Given the description of an element on the screen output the (x, y) to click on. 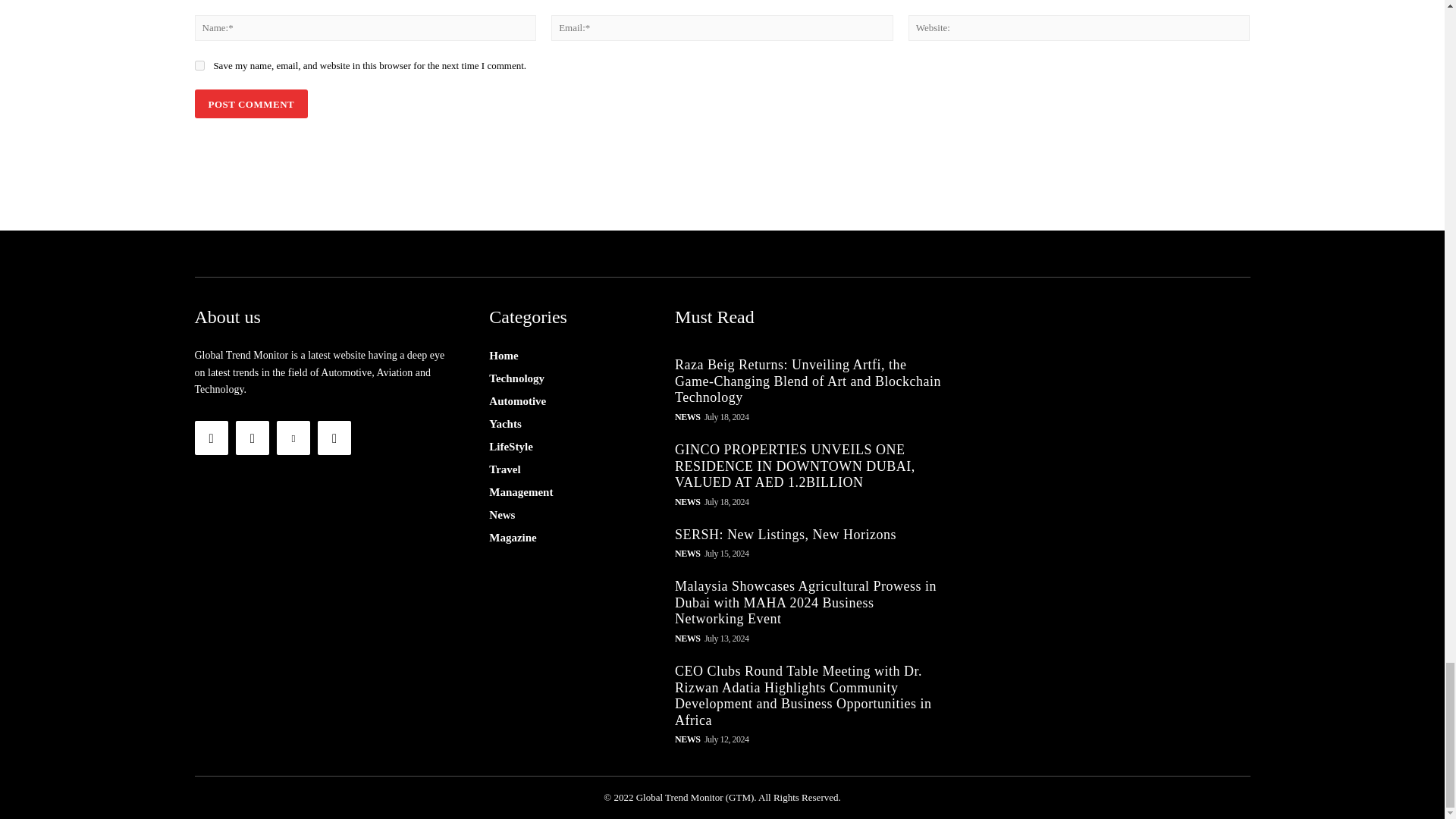
Post Comment (250, 103)
yes (198, 65)
